Given the description of an element on the screen output the (x, y) to click on. 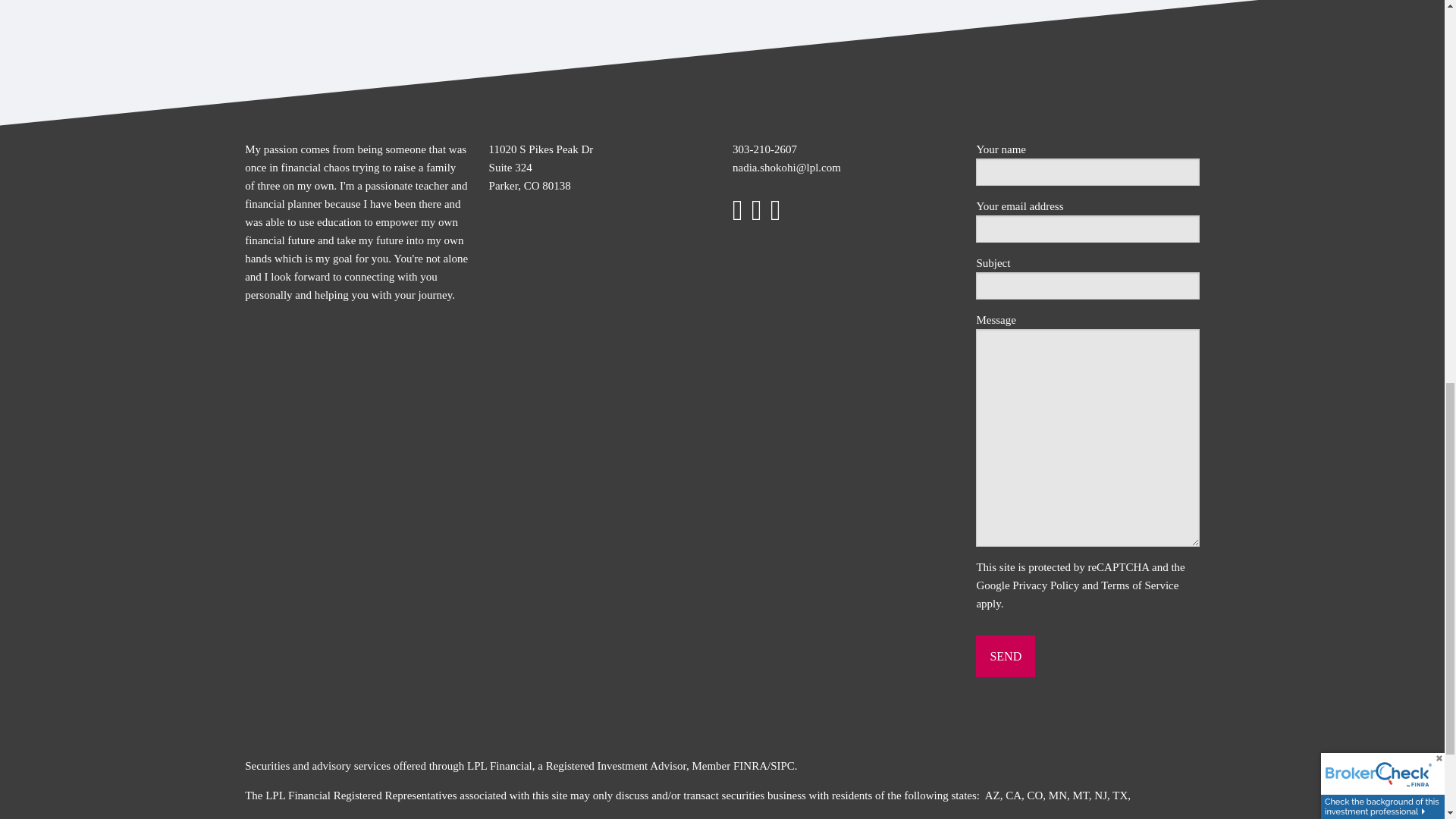
Privacy Policy (1044, 585)
Send (1005, 656)
Terms of Service (1138, 585)
SIPC (782, 766)
303-210-2607 (764, 149)
FINRA (750, 766)
CONTACT (1161, 4)
Send (1005, 656)
